Given the description of an element on the screen output the (x, y) to click on. 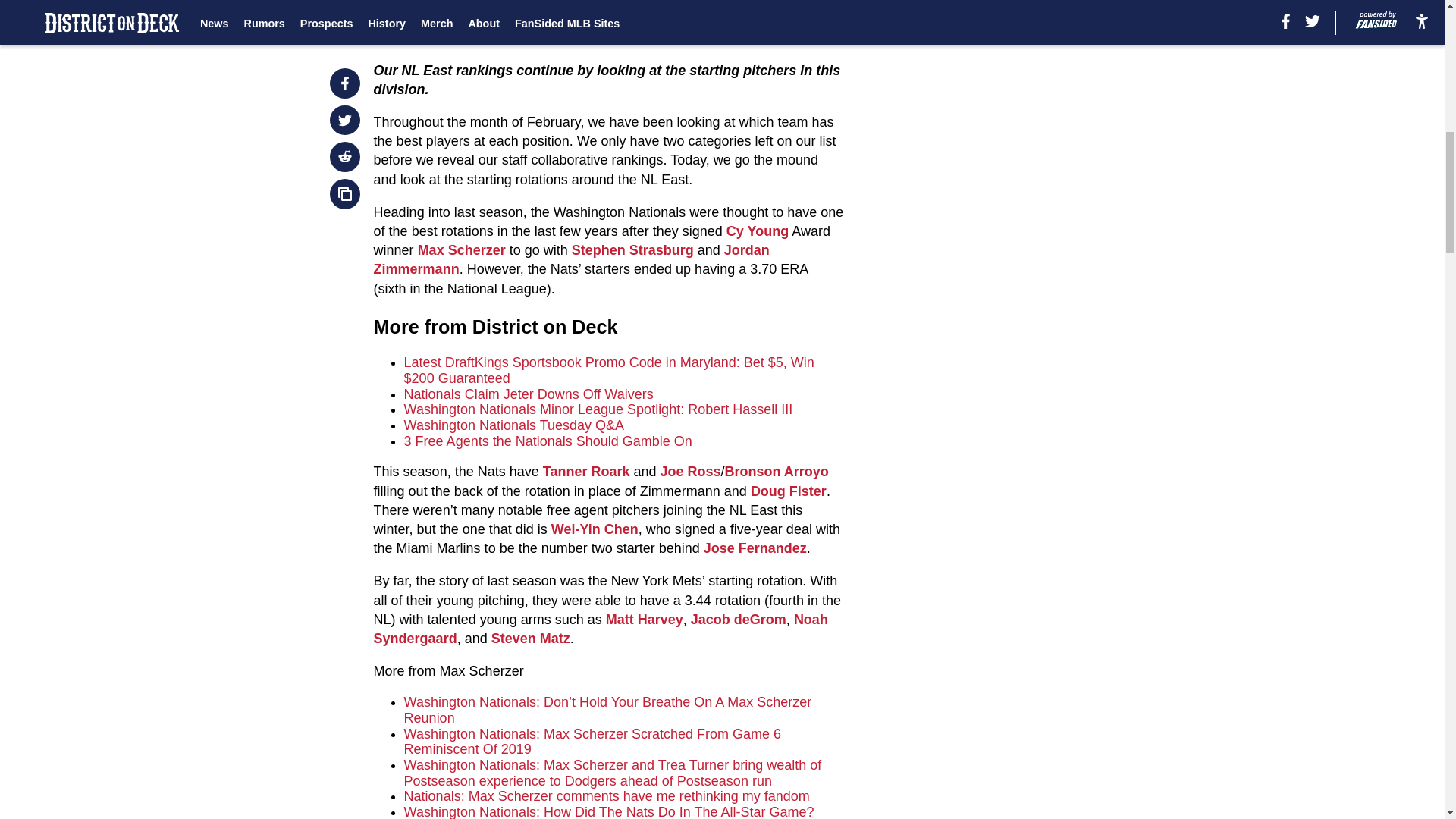
Stephen Strasburg (633, 249)
Max Scherzer (461, 249)
Next (388, 2)
Nationals Claim Jeter Downs Off Waivers (528, 394)
Cy Young (757, 231)
Jordan Zimmermann (572, 259)
Next (426, 4)
